Given the description of an element on the screen output the (x, y) to click on. 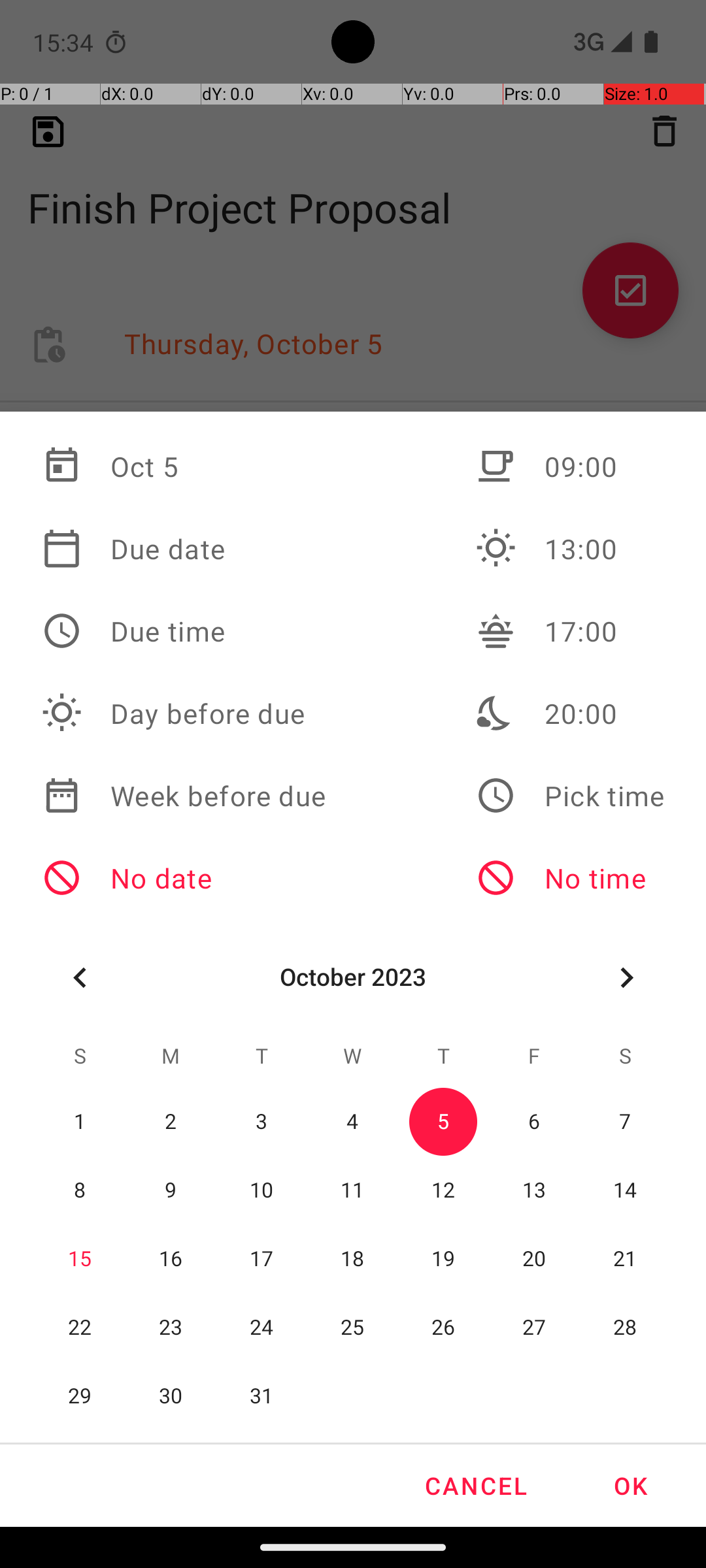
Oct 5 Element type: android.widget.CompoundButton (183, 466)
